Given the description of an element on the screen output the (x, y) to click on. 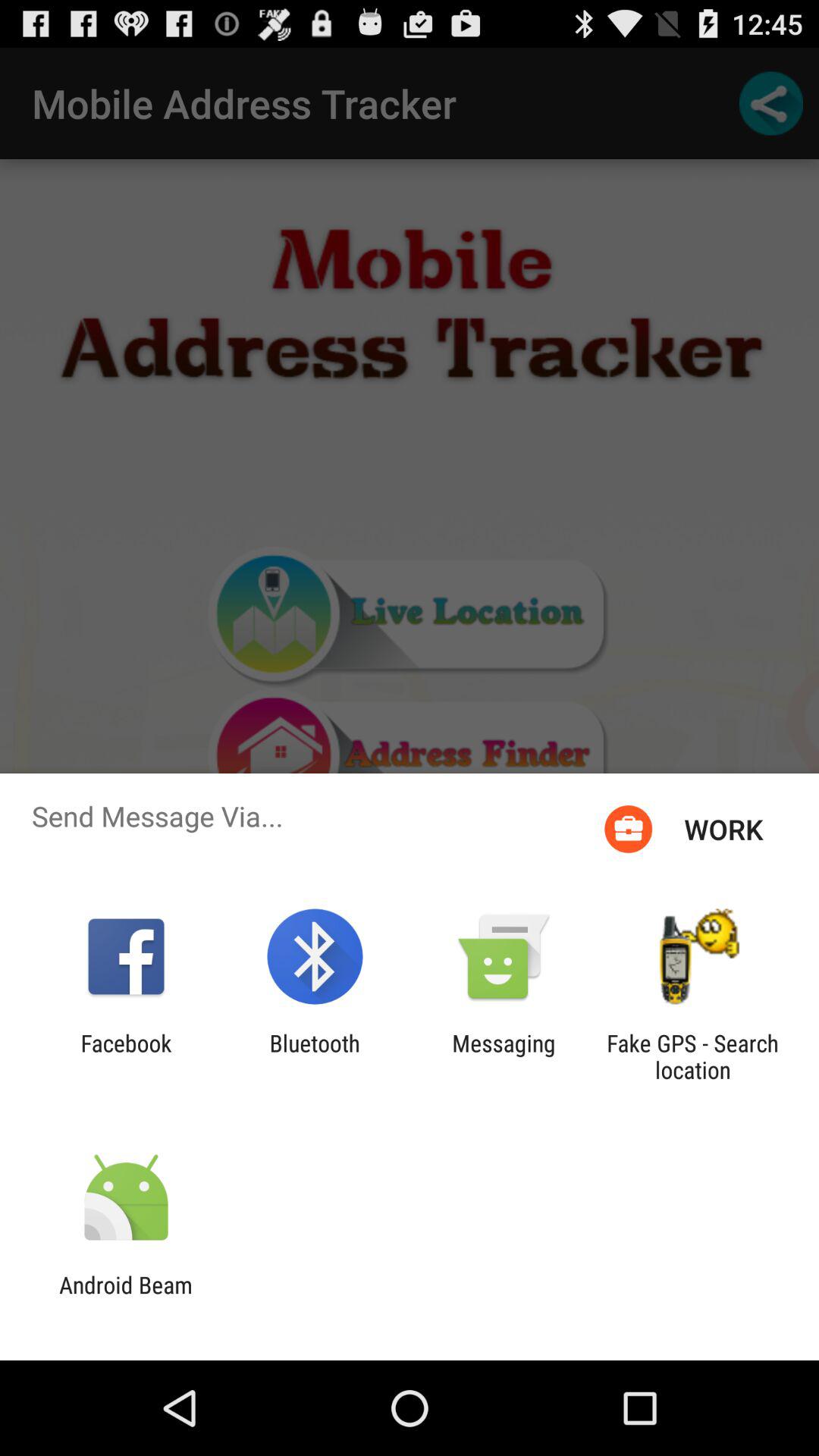
launch android beam item (125, 1298)
